Given the description of an element on the screen output the (x, y) to click on. 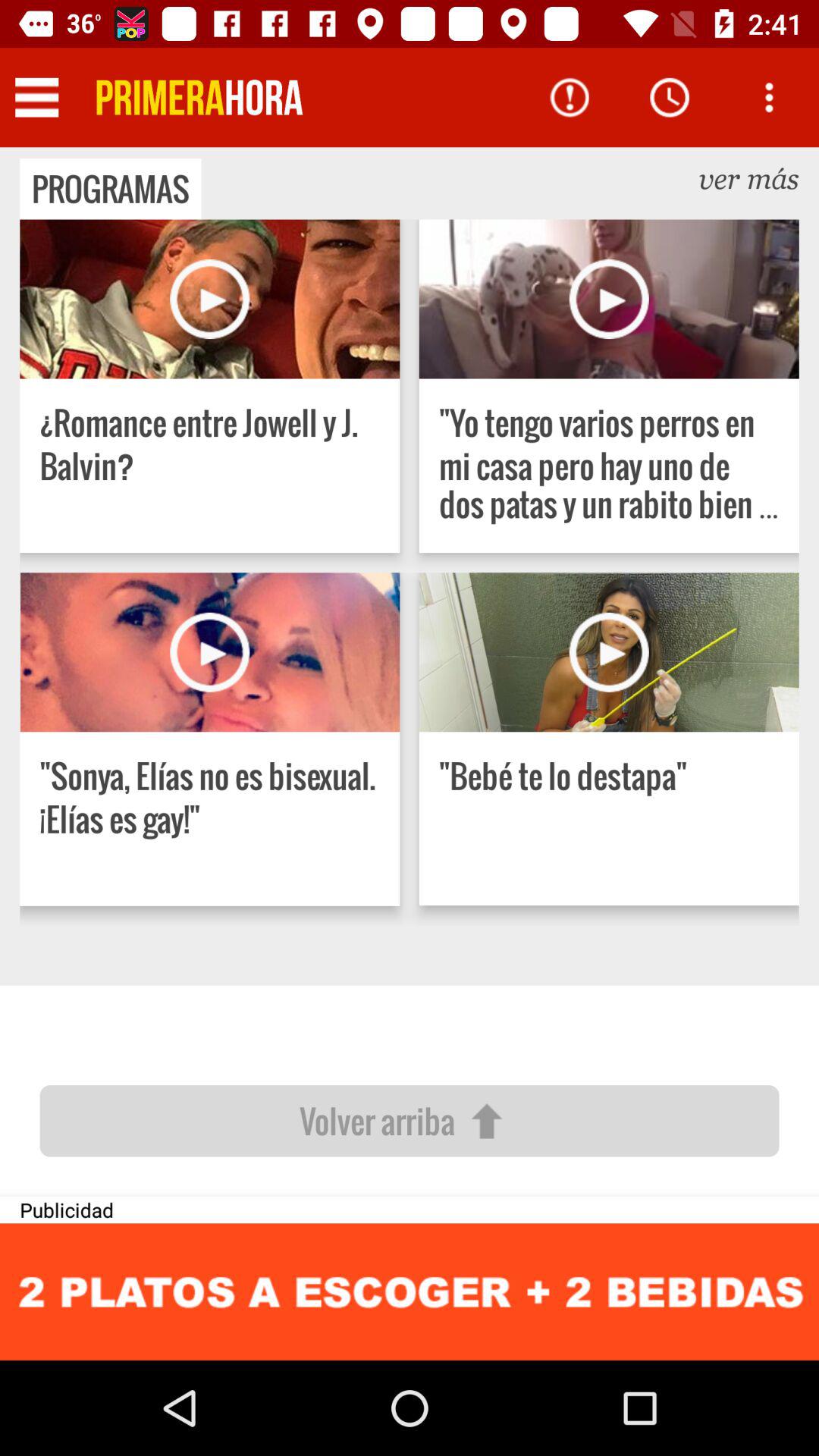
additional options (769, 97)
